Given the description of an element on the screen output the (x, y) to click on. 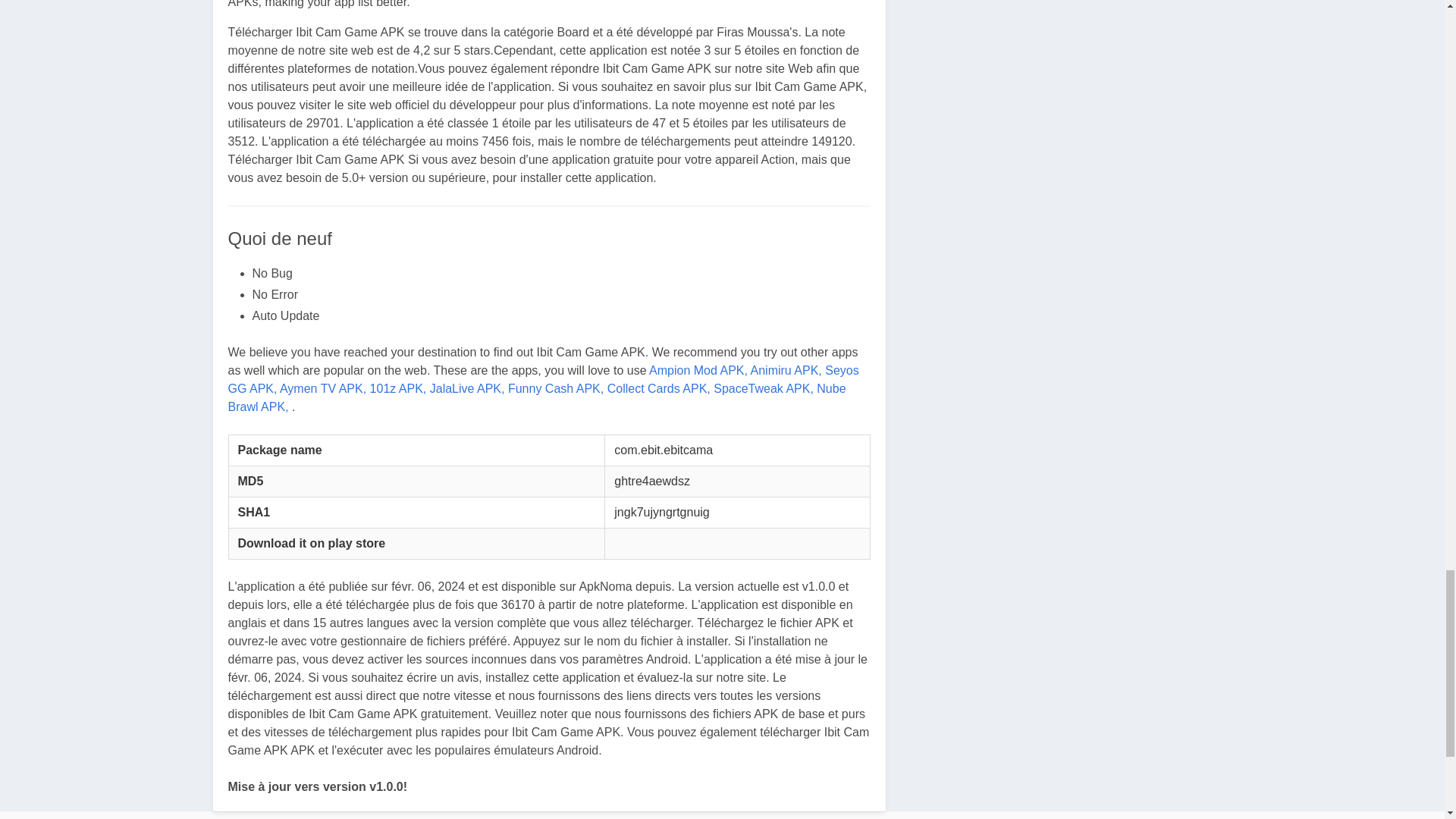
Seyos GG APK APK (543, 378)
101z APK APK (397, 388)
Funny Cash APK APK (556, 388)
JalaLive APK APK (467, 388)
Ampion Mod APK APK (698, 369)
Aymen TV APK APK (322, 388)
SpaceTweak APK APK (763, 388)
Nube Brawl APK APK (536, 397)
Collect Cards APK APK (658, 388)
Animiru APK APK (786, 369)
